Given the description of an element on the screen output the (x, y) to click on. 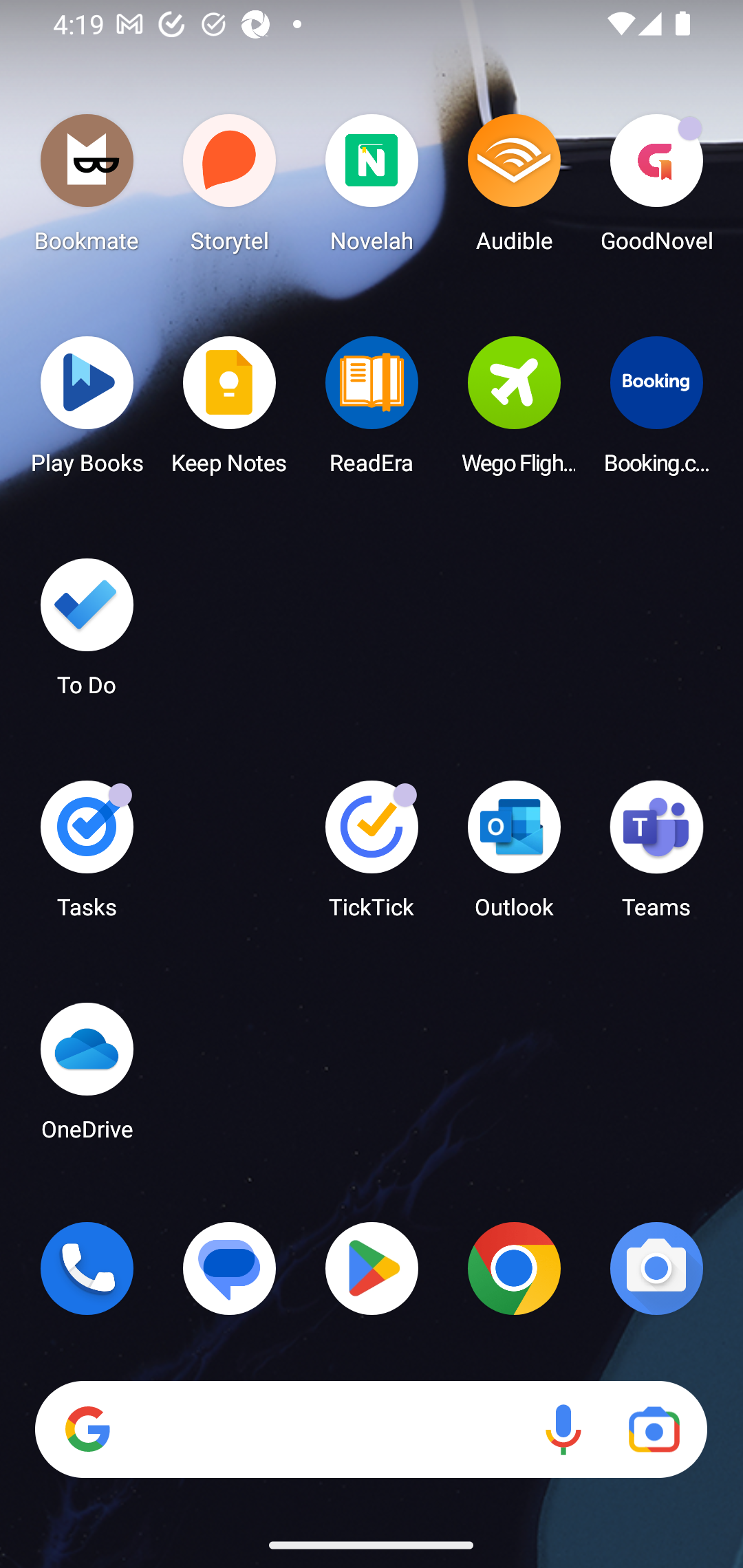
Bookmate (86, 188)
Storytel (229, 188)
Novelah (371, 188)
Audible (513, 188)
GoodNovel GoodNovel has 1 notification (656, 188)
Play Books (86, 410)
Keep Notes (229, 410)
ReadEra (371, 410)
Wego Flights & Hotels (513, 410)
Booking.com (656, 410)
To Do (86, 633)
Tasks Tasks has 1 notification (86, 854)
TickTick TickTick has 3 notifications (371, 854)
Outlook (513, 854)
Teams (656, 854)
OneDrive (86, 1076)
Phone (86, 1268)
Messages (229, 1268)
Play Store (371, 1268)
Chrome (513, 1268)
Camera (656, 1268)
Search Voice search Google Lens (370, 1429)
Voice search (562, 1429)
Google Lens (653, 1429)
